Given the description of an element on the screen output the (x, y) to click on. 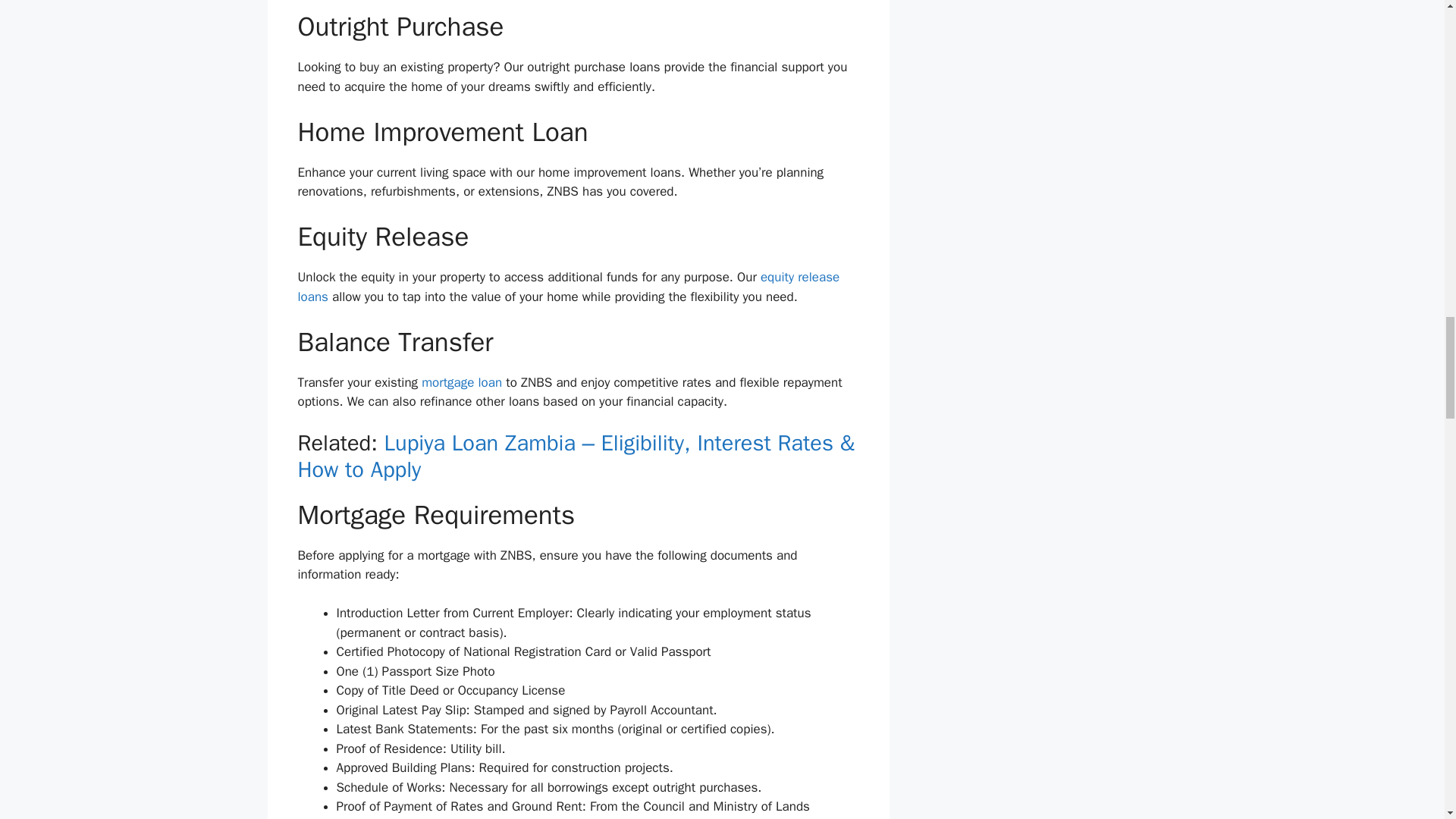
mortgage loan (462, 382)
equity release loans (568, 286)
